Given the description of an element on the screen output the (x, y) to click on. 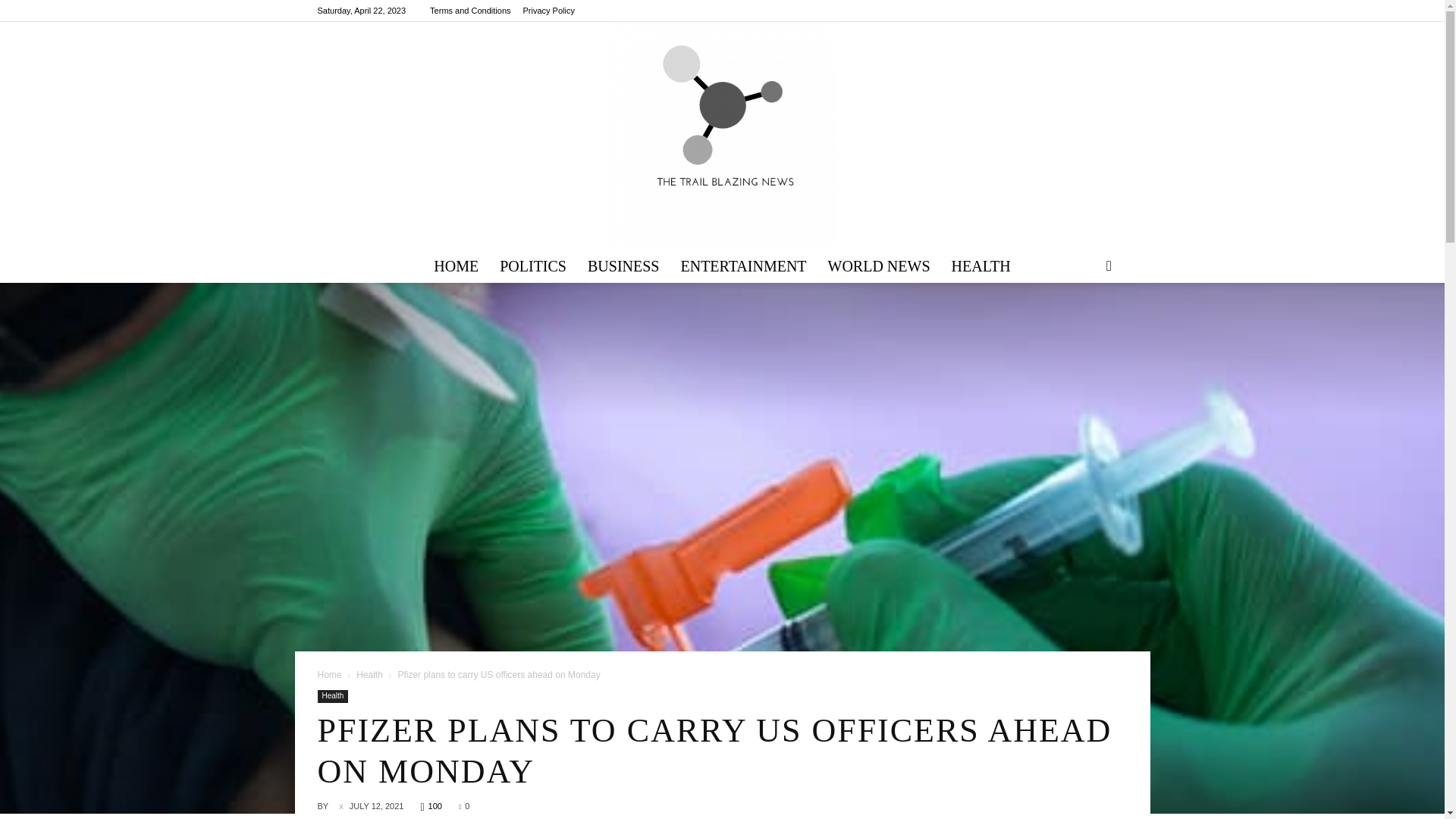
WORLD NEWS (878, 265)
POLITICS (532, 265)
HEALTH (981, 265)
Terms and Conditions (470, 10)
Health (332, 696)
View all posts in Health (369, 674)
Privacy Policy (548, 10)
Search (1085, 324)
Health (369, 674)
0 (463, 805)
